Given the description of an element on the screen output the (x, y) to click on. 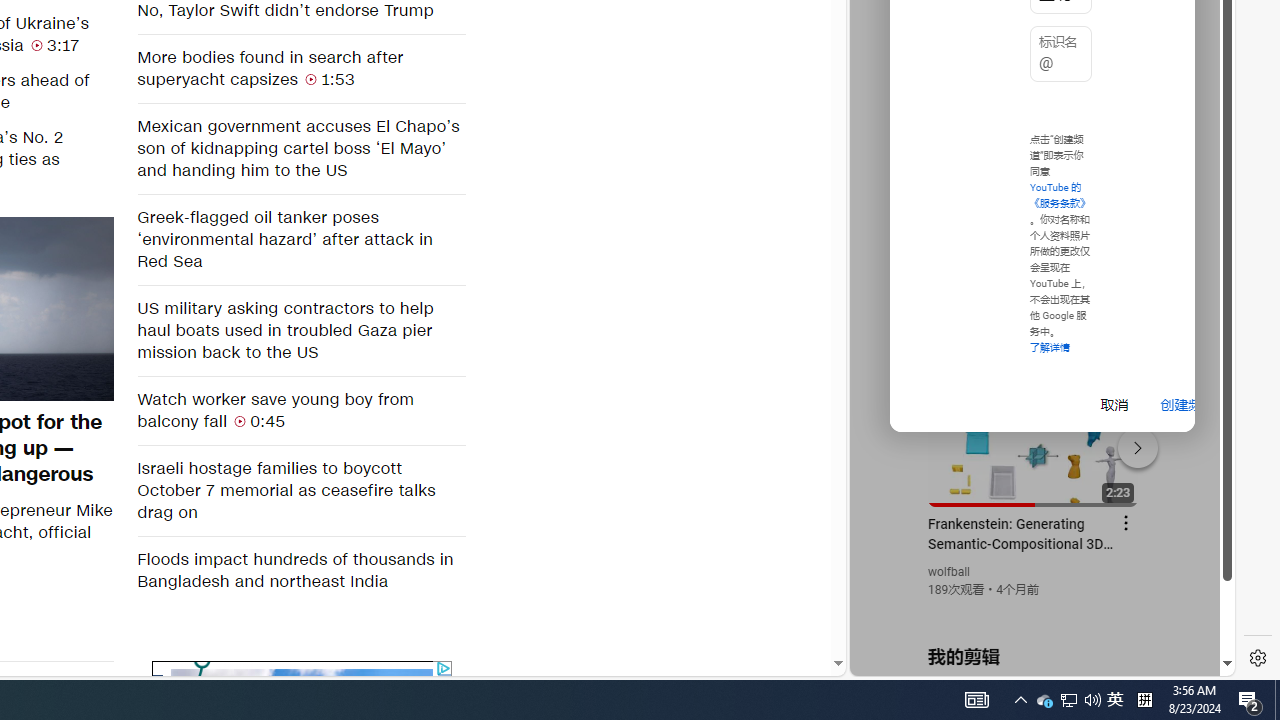
you (1034, 609)
#you (1034, 439)
wolfball (949, 572)
